Given the description of an element on the screen output the (x, y) to click on. 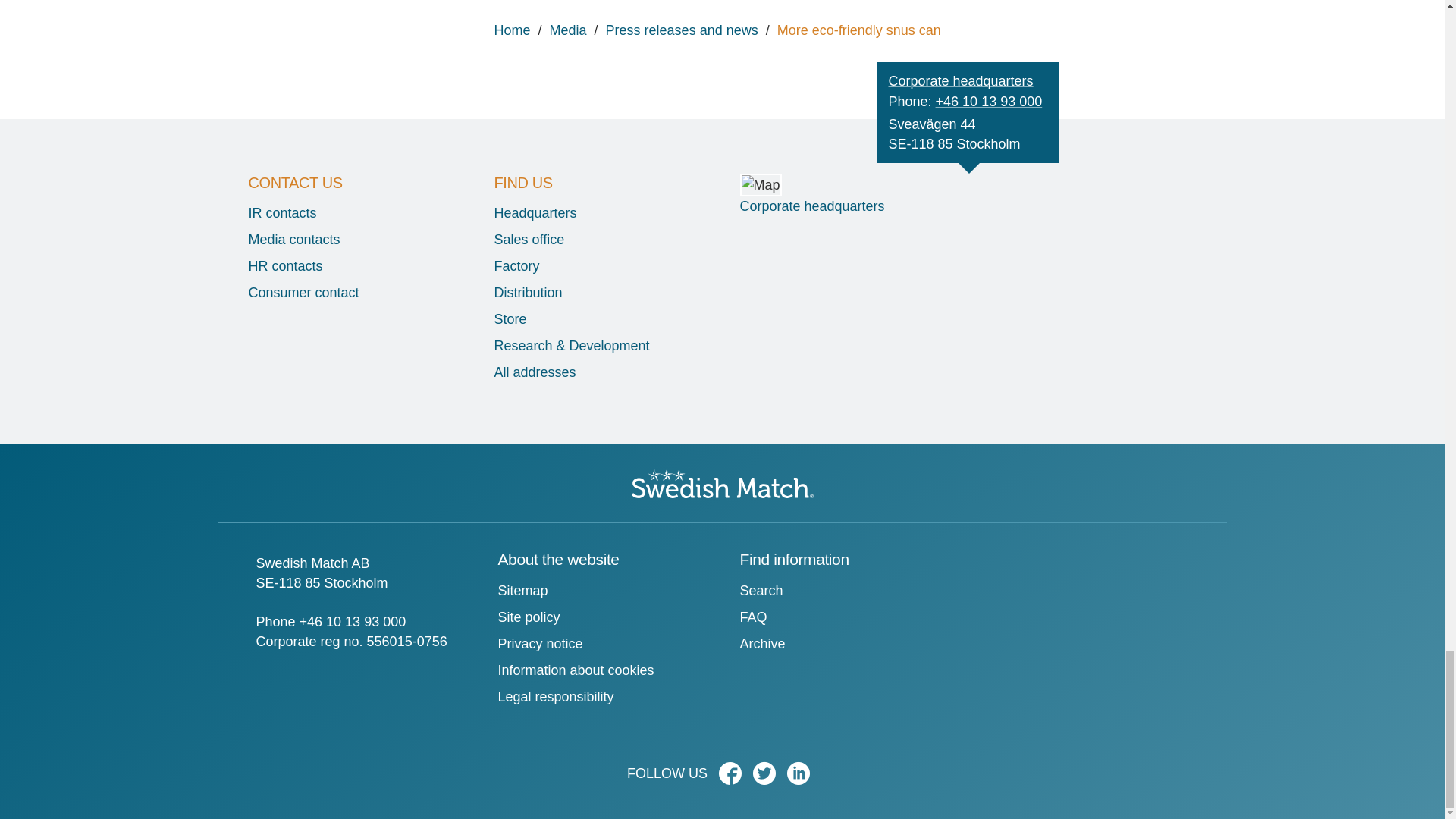
facebook (734, 778)
Twitter (767, 778)
LinkedIn (801, 778)
